Given the description of an element on the screen output the (x, y) to click on. 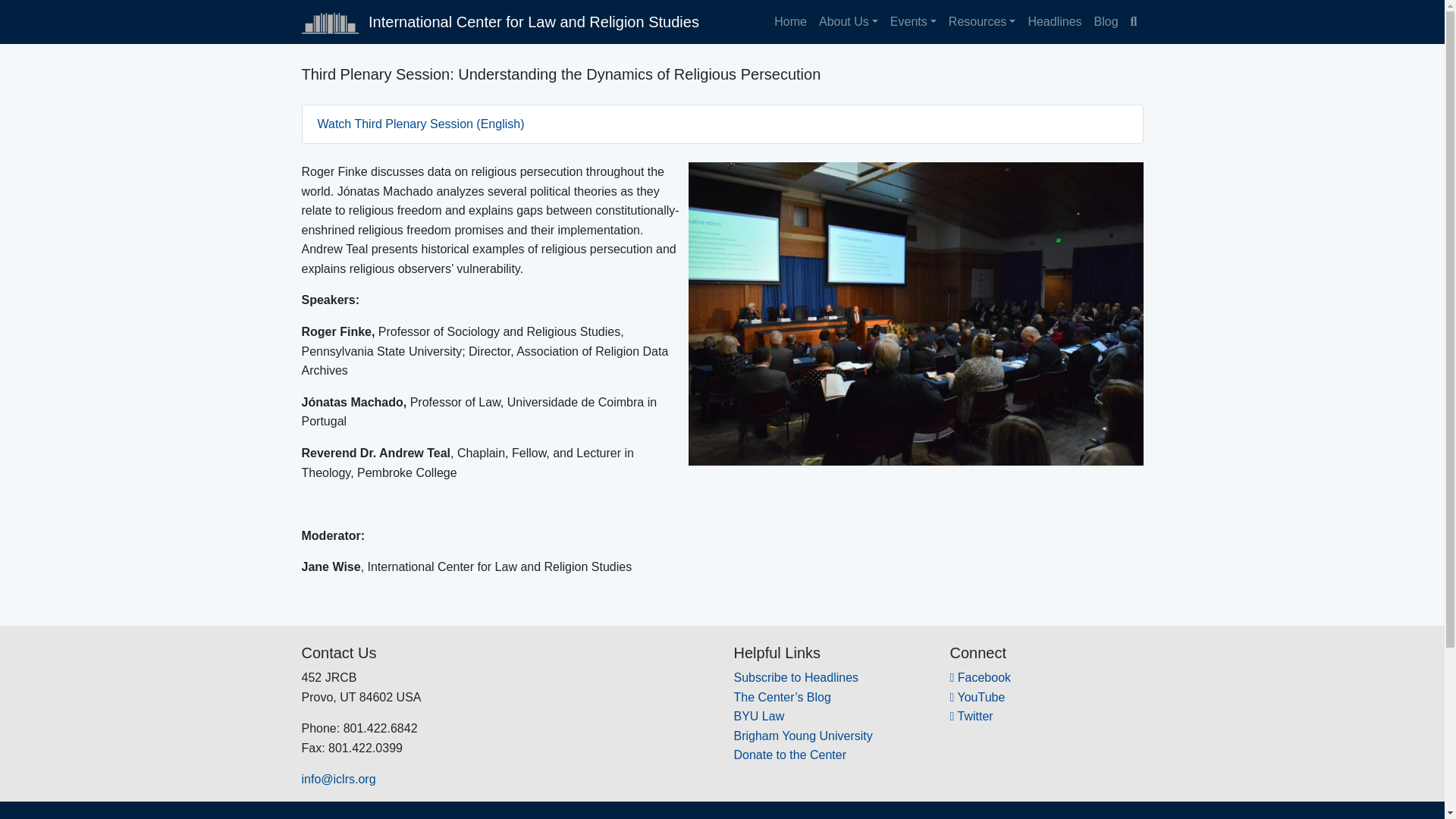
Home (790, 21)
Blog (1105, 21)
International Center for Law and Religion Studies (499, 21)
Brigham Young University (802, 735)
Donate to the Center (790, 754)
About Us (847, 21)
Resources (982, 21)
About Us (847, 21)
Events (912, 21)
Twitter (970, 716)
Events (912, 21)
Subscribe to Headlines (796, 676)
Home (790, 21)
YouTube (976, 697)
BYU Law (758, 716)
